Given the description of an element on the screen output the (x, y) to click on. 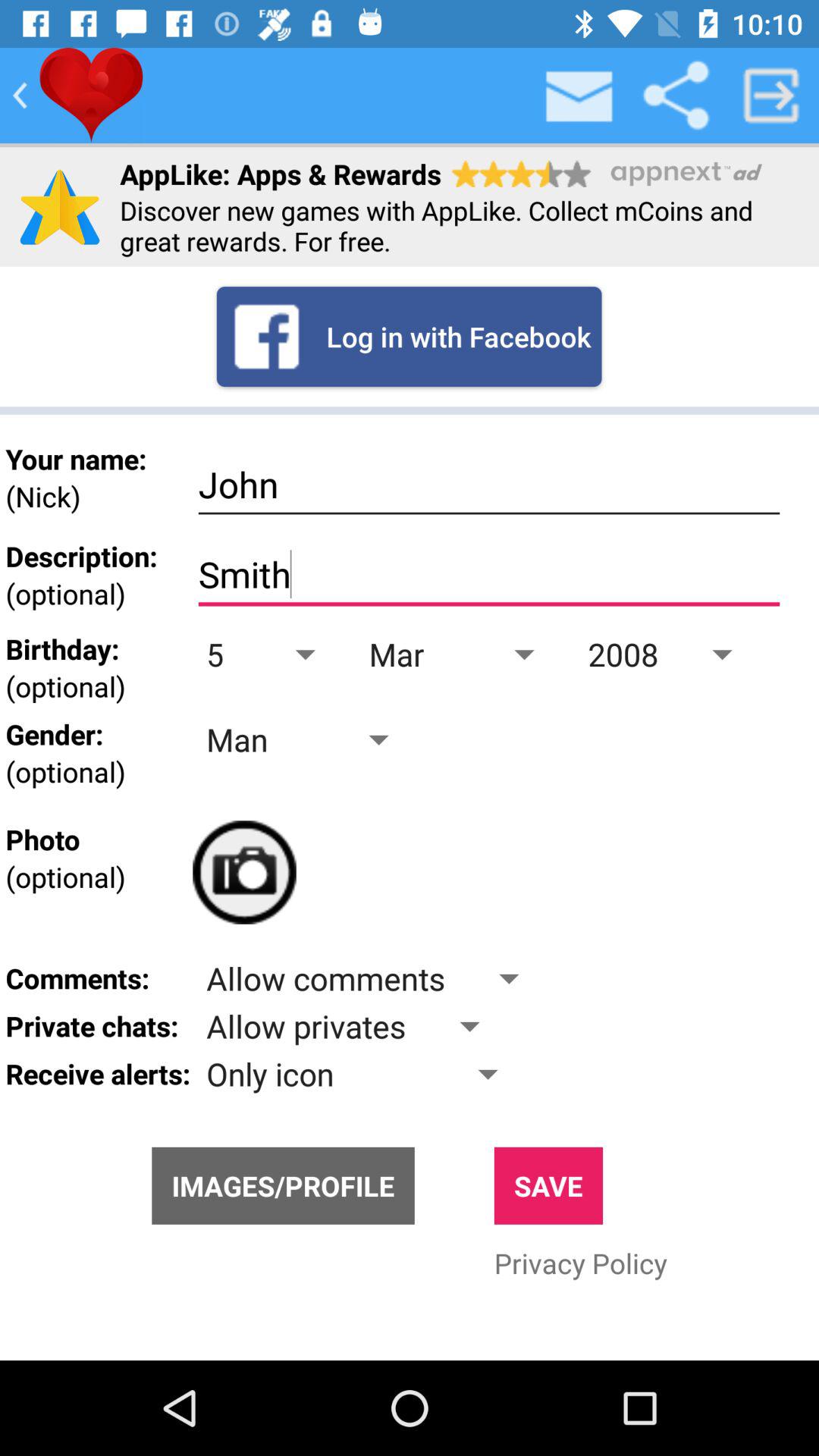
upload a photo (244, 872)
